Given the description of an element on the screen output the (x, y) to click on. 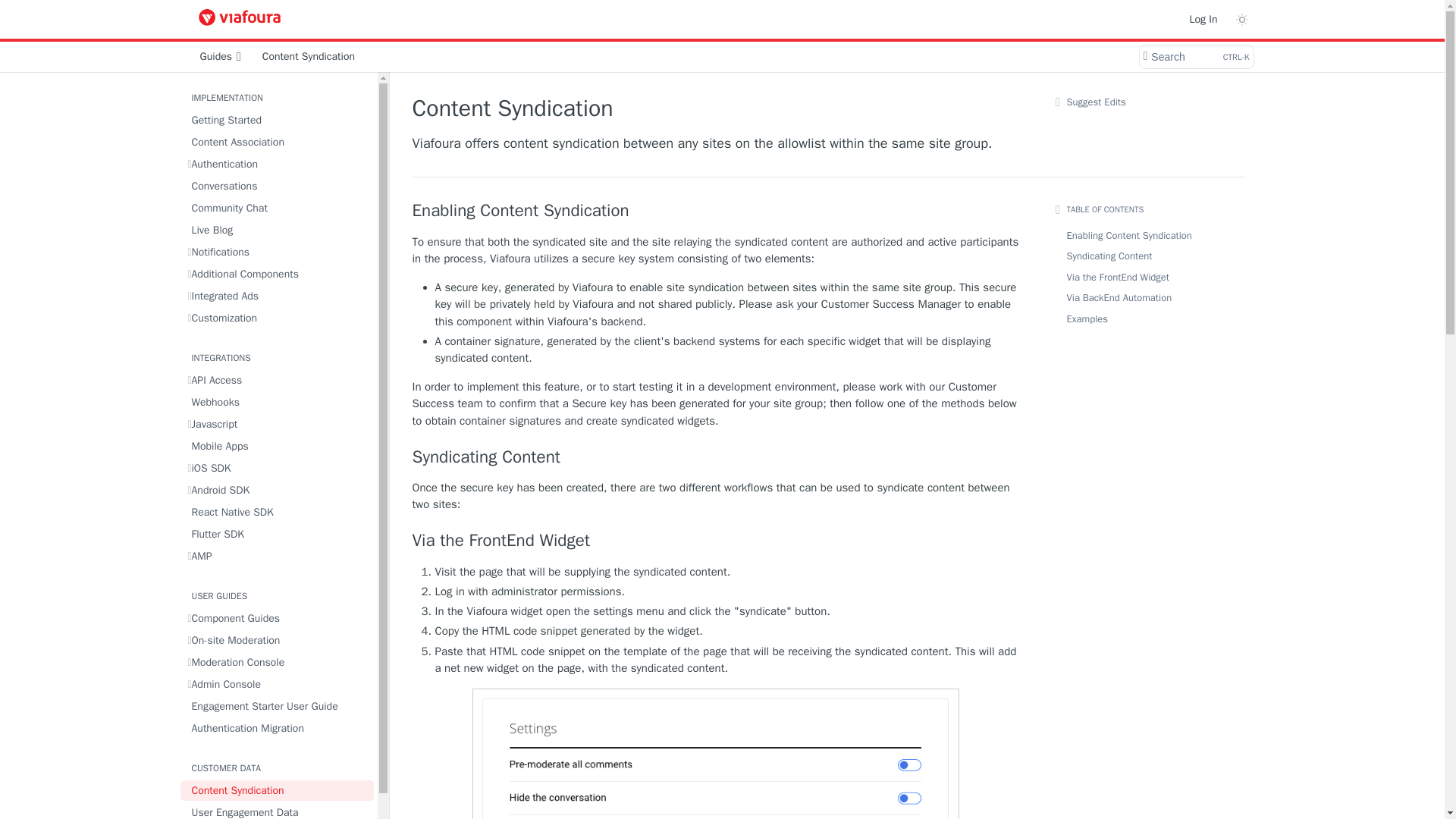
Authentication (277, 163)
Getting Started (277, 119)
content-syndication-1.png (714, 753)
Additional Components (277, 273)
Enabling Content Syndication (715, 210)
Live Blog (277, 230)
Notifications (277, 251)
Via the FrontEnd Widget (715, 540)
Guides (219, 56)
Log In (1202, 18)
Content Association (277, 141)
Community Chat (277, 208)
Conversations (277, 186)
Syndicating Content (715, 456)
